Given the description of an element on the screen output the (x, y) to click on. 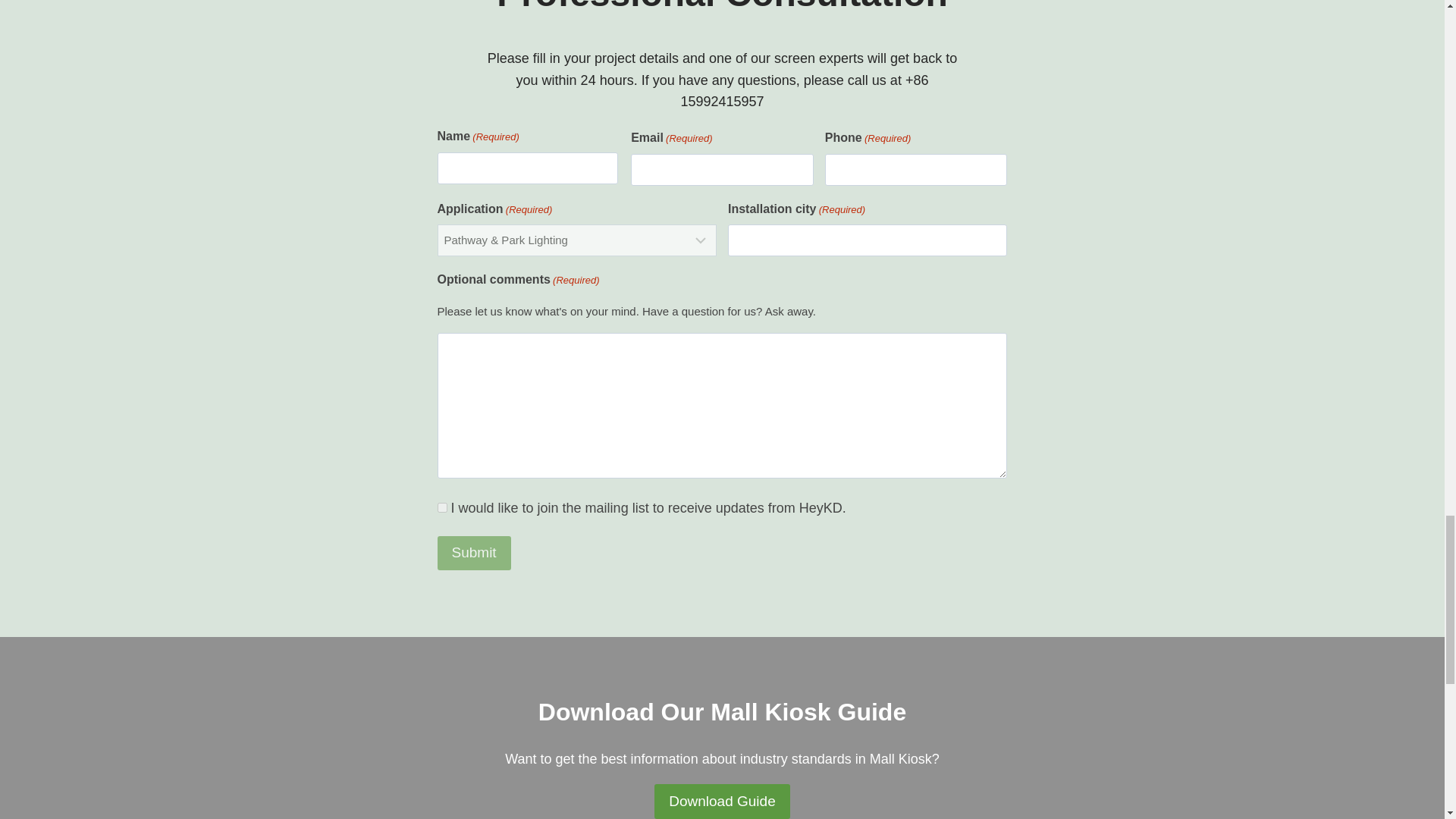
1 (441, 507)
Submit (473, 553)
